Given the description of an element on the screen output the (x, y) to click on. 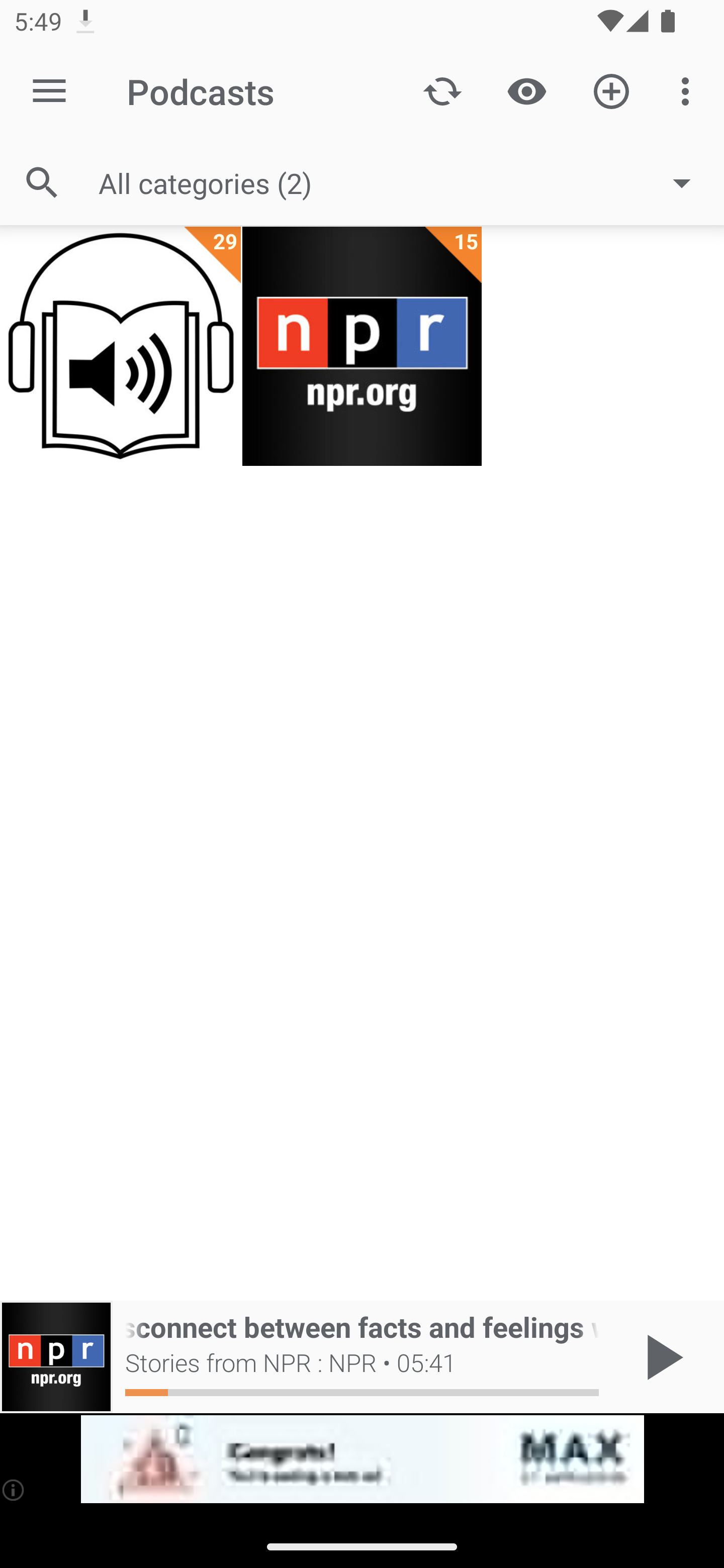
Open navigation sidebar (49, 91)
Update (442, 90)
Show / Hide played content (526, 90)
Add new Podcast (611, 90)
More options (688, 90)
Search (42, 183)
All categories (2) (404, 182)
Audiobooks 29 (121, 346)
Stories from NPR : NPR 15 (361, 346)
Play / Pause (660, 1356)
app-monetization (362, 1459)
(i) (14, 1489)
